Given the description of an element on the screen output the (x, y) to click on. 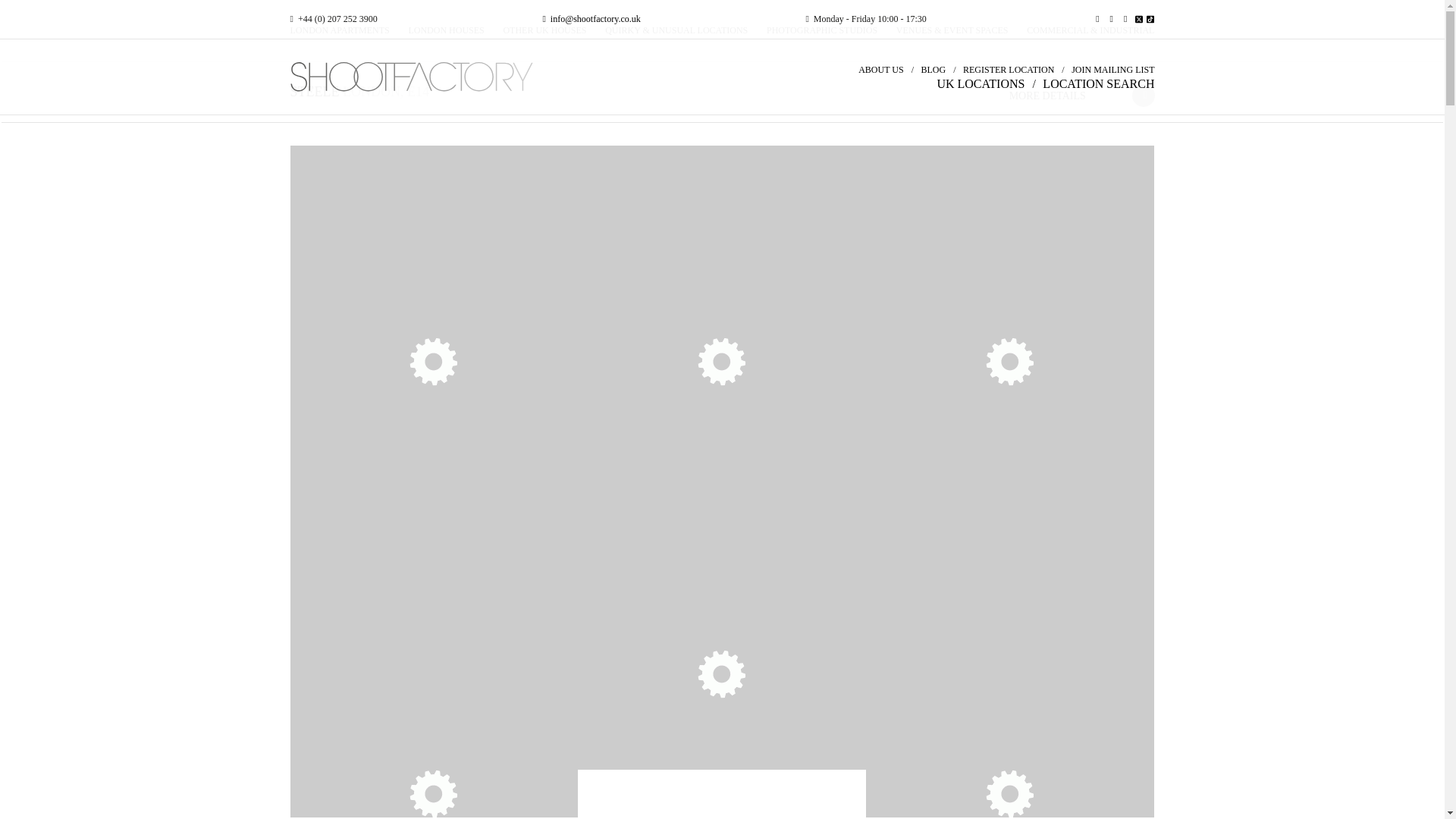
SHOOTFACTORY :  (425, 76)
BLOG (932, 69)
REGISTER LOCATION (1008, 69)
LONDON APARTMENTS (338, 30)
ABOUT US (880, 69)
LONDON HOUSES (445, 30)
OTHER UK HOUSES (544, 30)
JOIN MAILING LIST (1112, 69)
UK LOCATIONS (980, 83)
LOCATION SEARCH (1098, 83)
PHOTOGRAPHIC STUDIOS (822, 30)
MORE DETAILS (1054, 95)
